Given the description of an element on the screen output the (x, y) to click on. 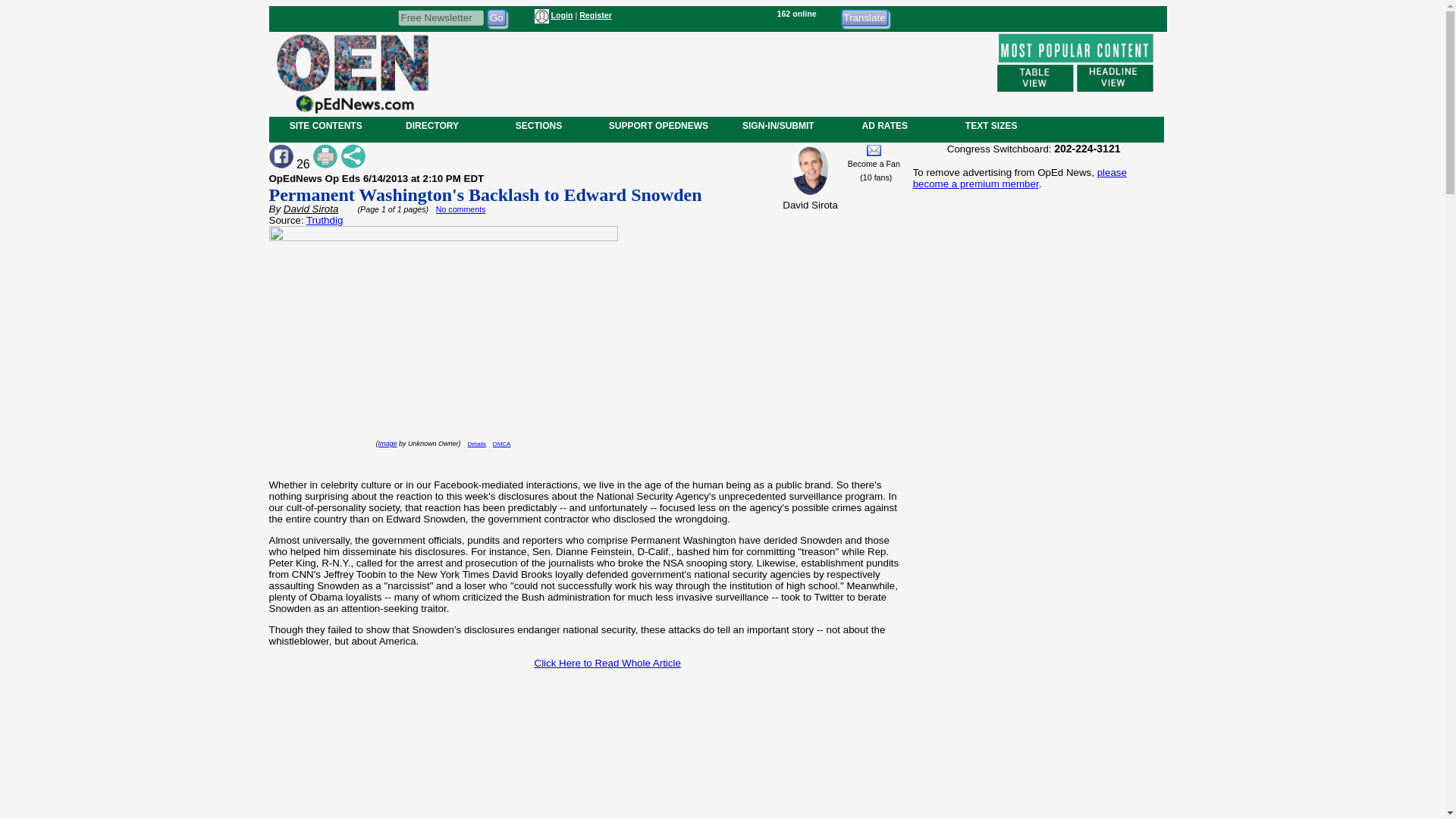
David Sirota (311, 208)
SITE CONTENTS (325, 125)
SUPPORT OPEDNEWS (658, 125)
Advertisement (711, 71)
Report Copyright Violation (502, 443)
Become a Fan (873, 163)
Translate (864, 17)
AD RATES (884, 125)
Login (561, 14)
Go (496, 17)
